Given the description of an element on the screen output the (x, y) to click on. 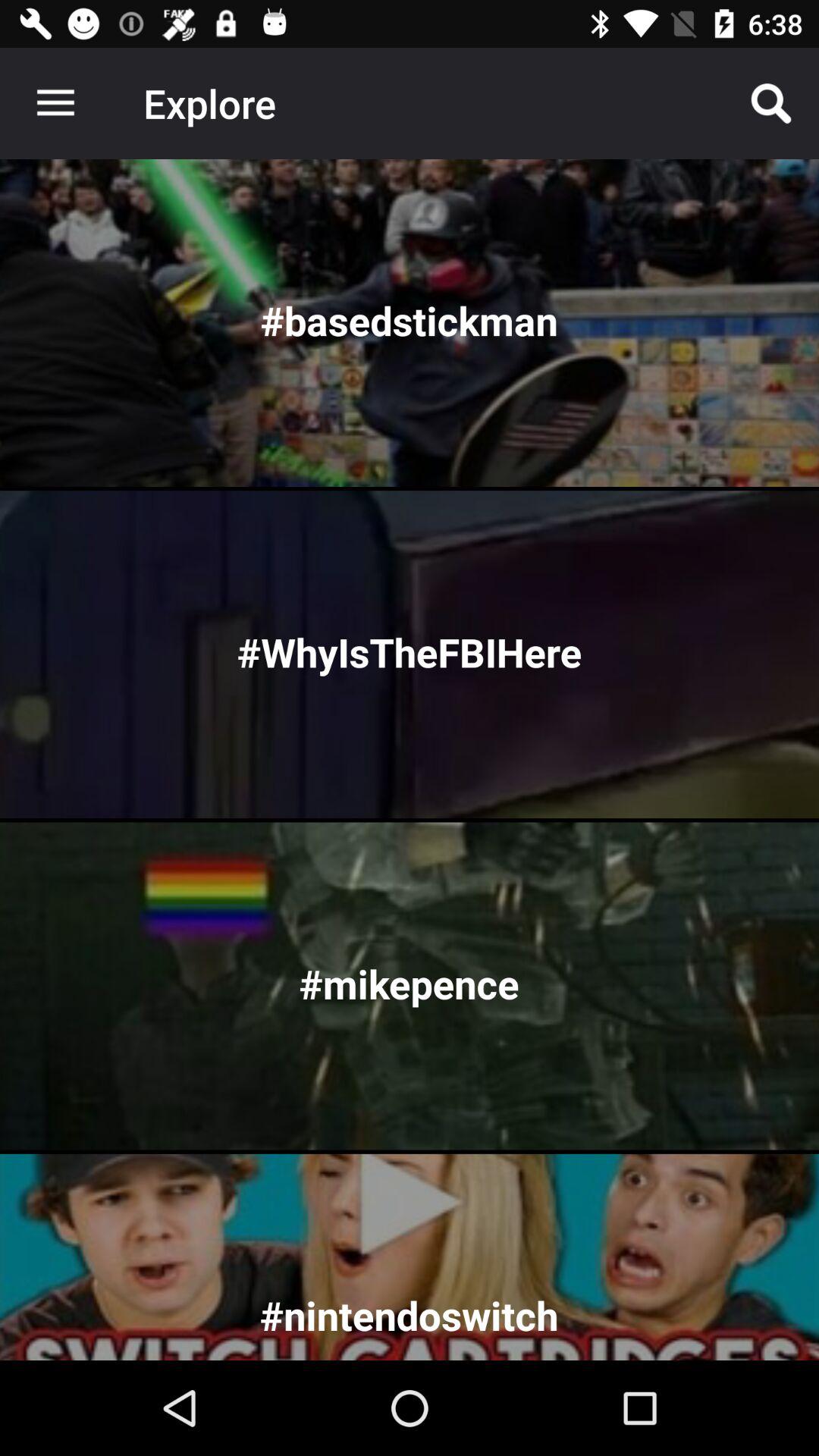
press item to the left of the explore (55, 103)
